Given the description of an element on the screen output the (x, y) to click on. 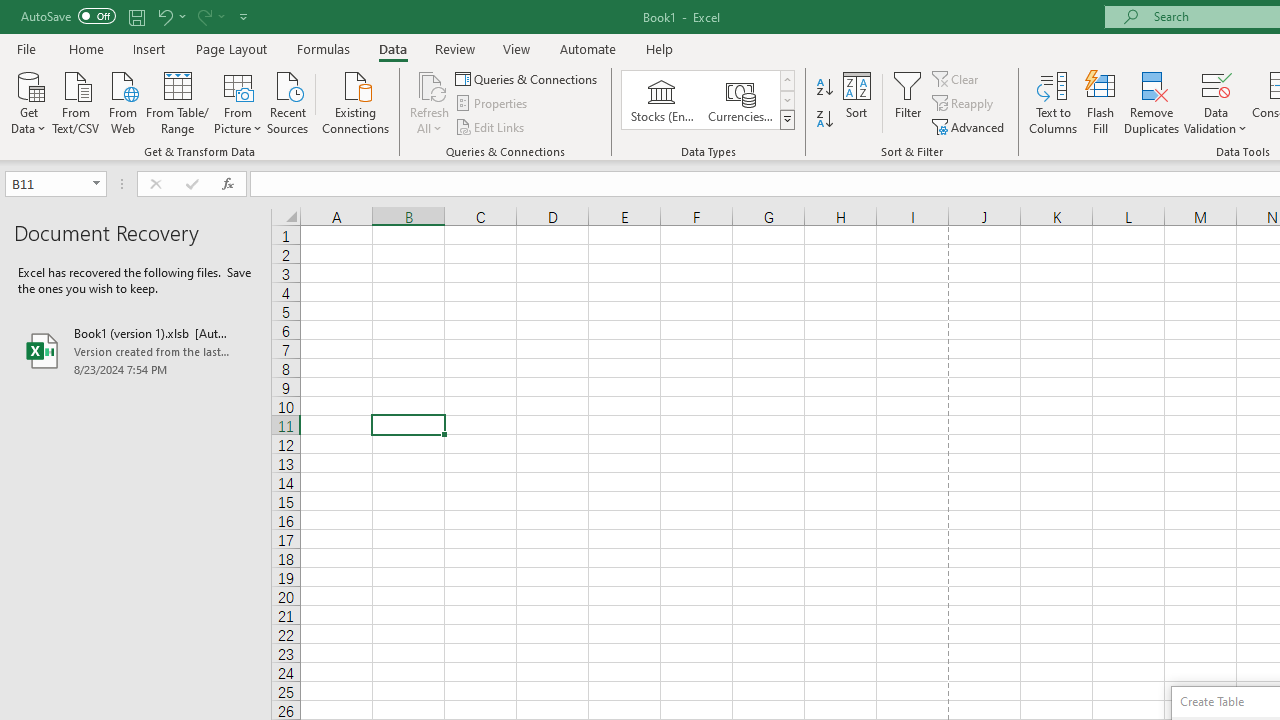
Sort A to Z (824, 87)
From Table/Range (177, 101)
Get Data (28, 101)
Currencies (English) (740, 100)
Stocks (English) (662, 100)
Remove Duplicates (1151, 102)
Sort... (856, 102)
Book1 (version 1).xlsb  [AutoRecovered] (136, 350)
Existing Connections (355, 101)
